Given the description of an element on the screen output the (x, y) to click on. 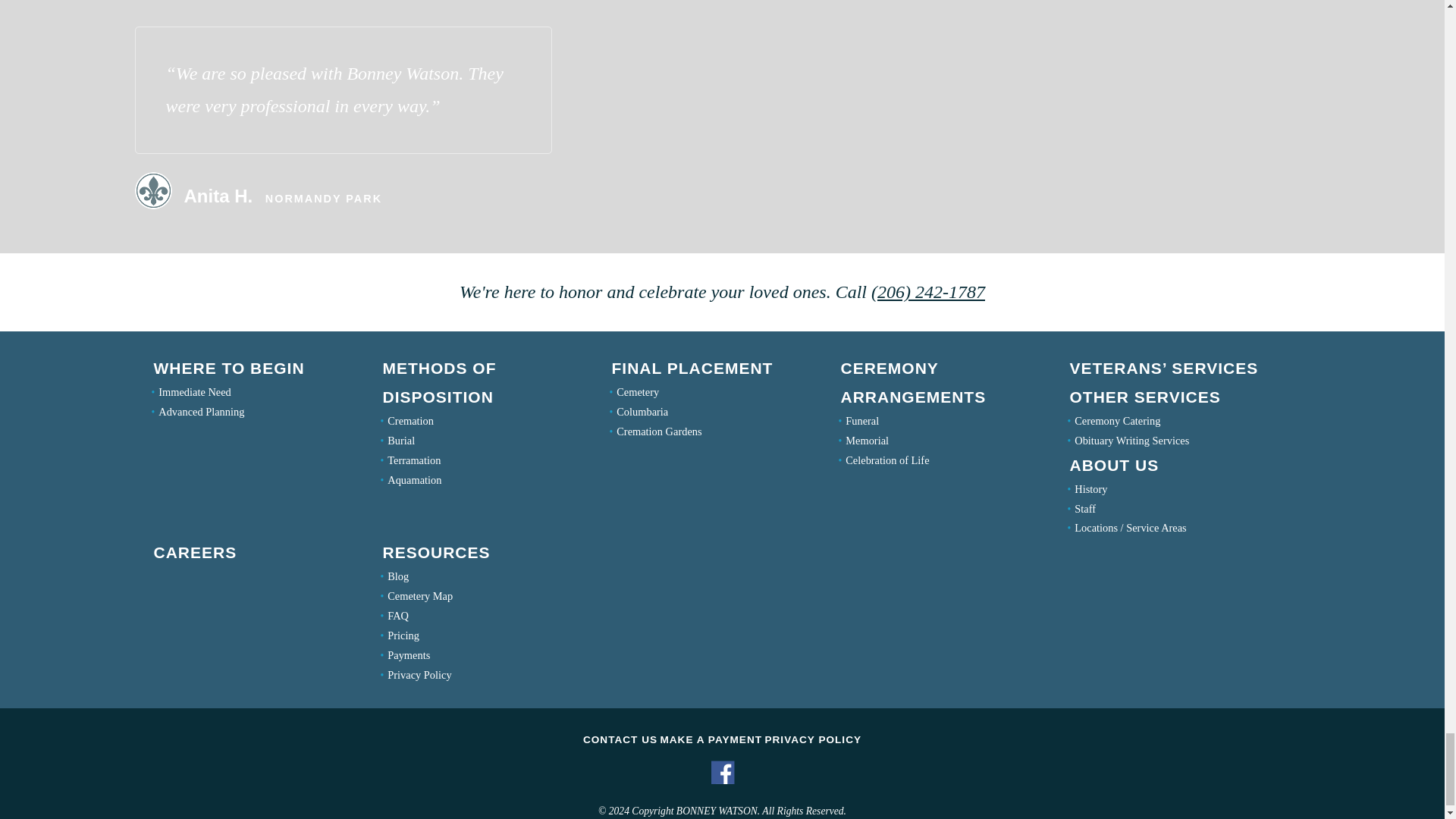
Facebook (722, 781)
